Given the description of an element on the screen output the (x, y) to click on. 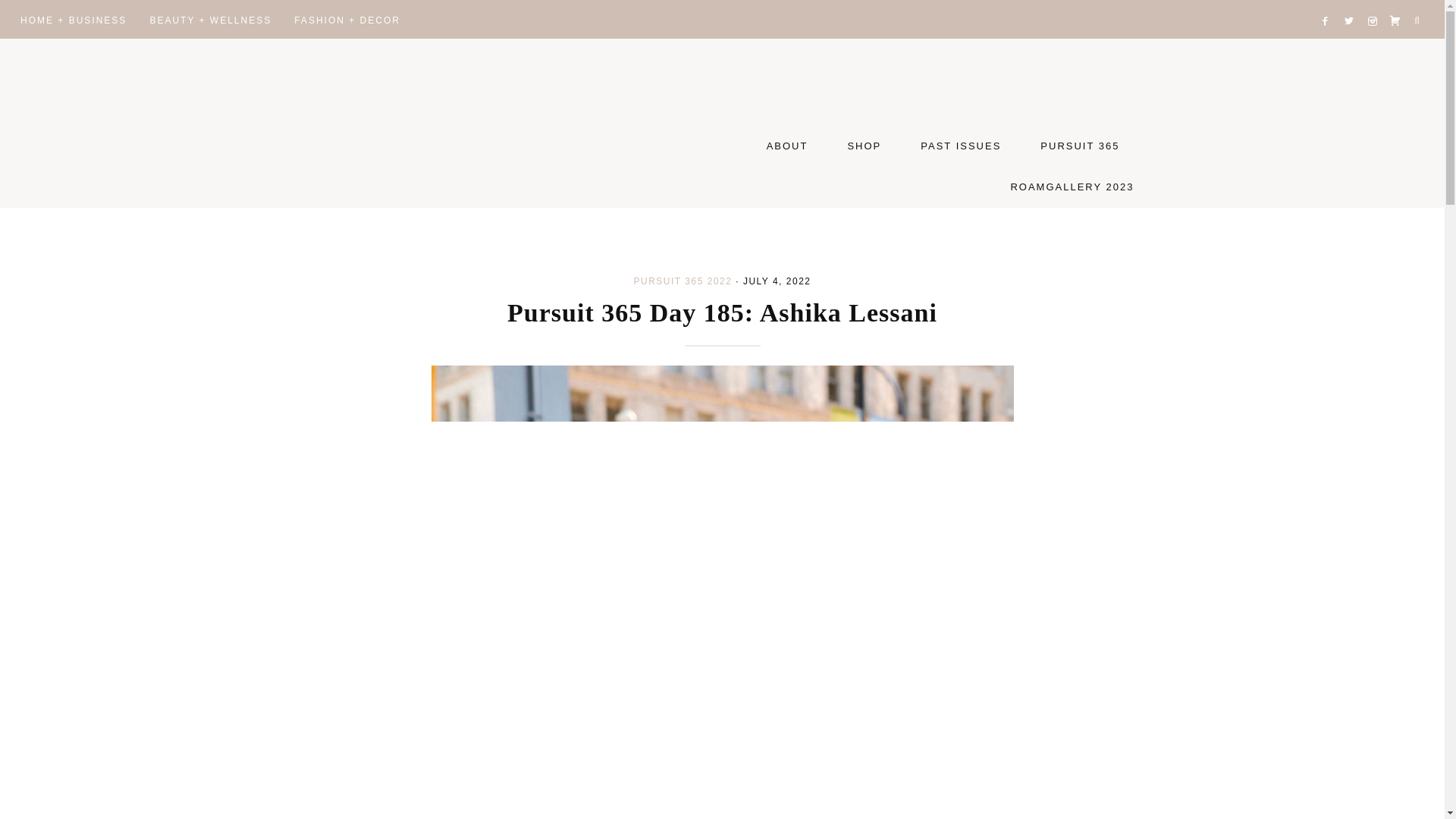
Cart (1396, 3)
Twitter (1351, 3)
Instagram (1374, 3)
Facebook (1328, 3)
